Given the description of an element on the screen output the (x, y) to click on. 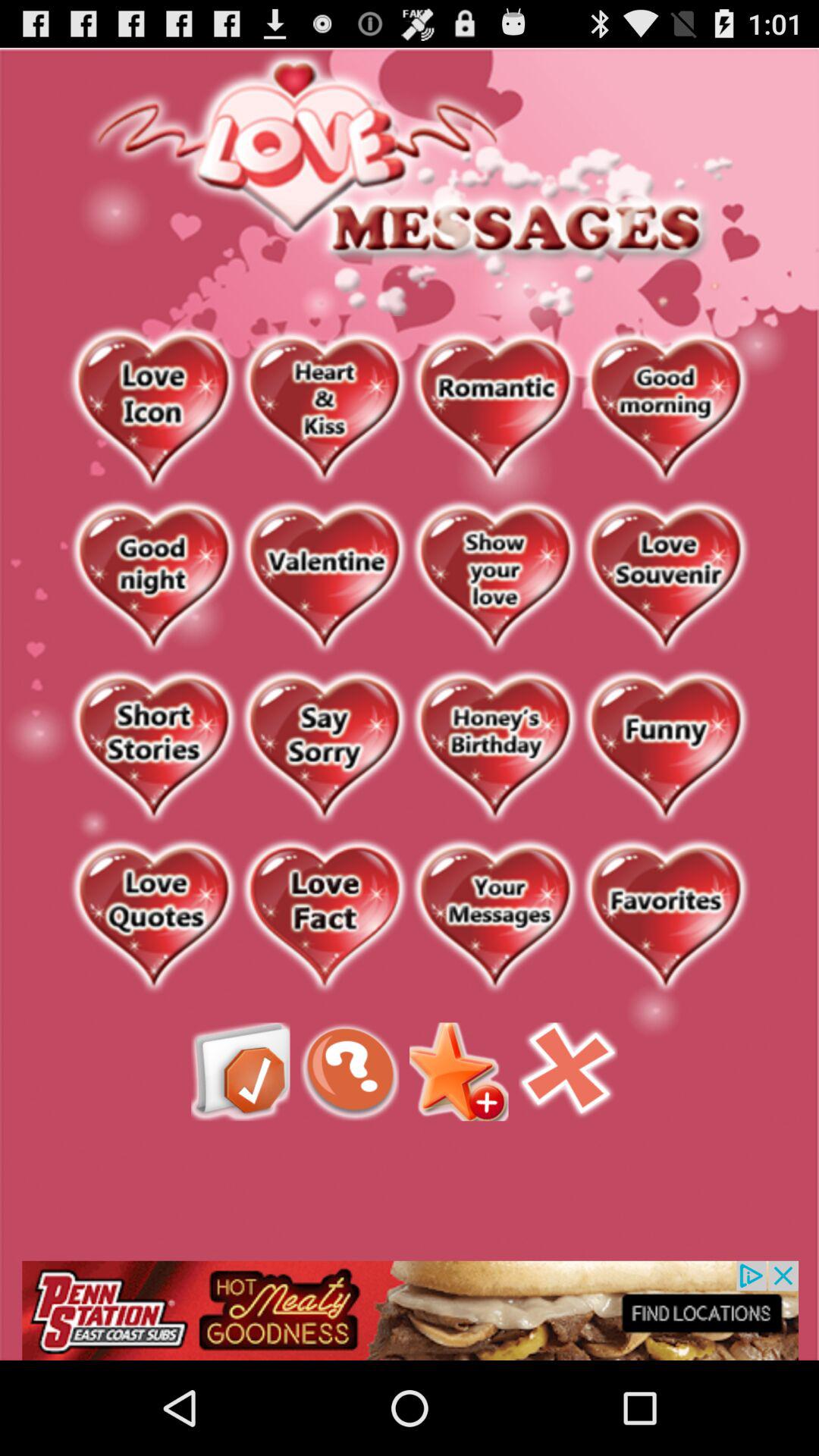
love icon message (153, 408)
